Given the description of an element on the screen output the (x, y) to click on. 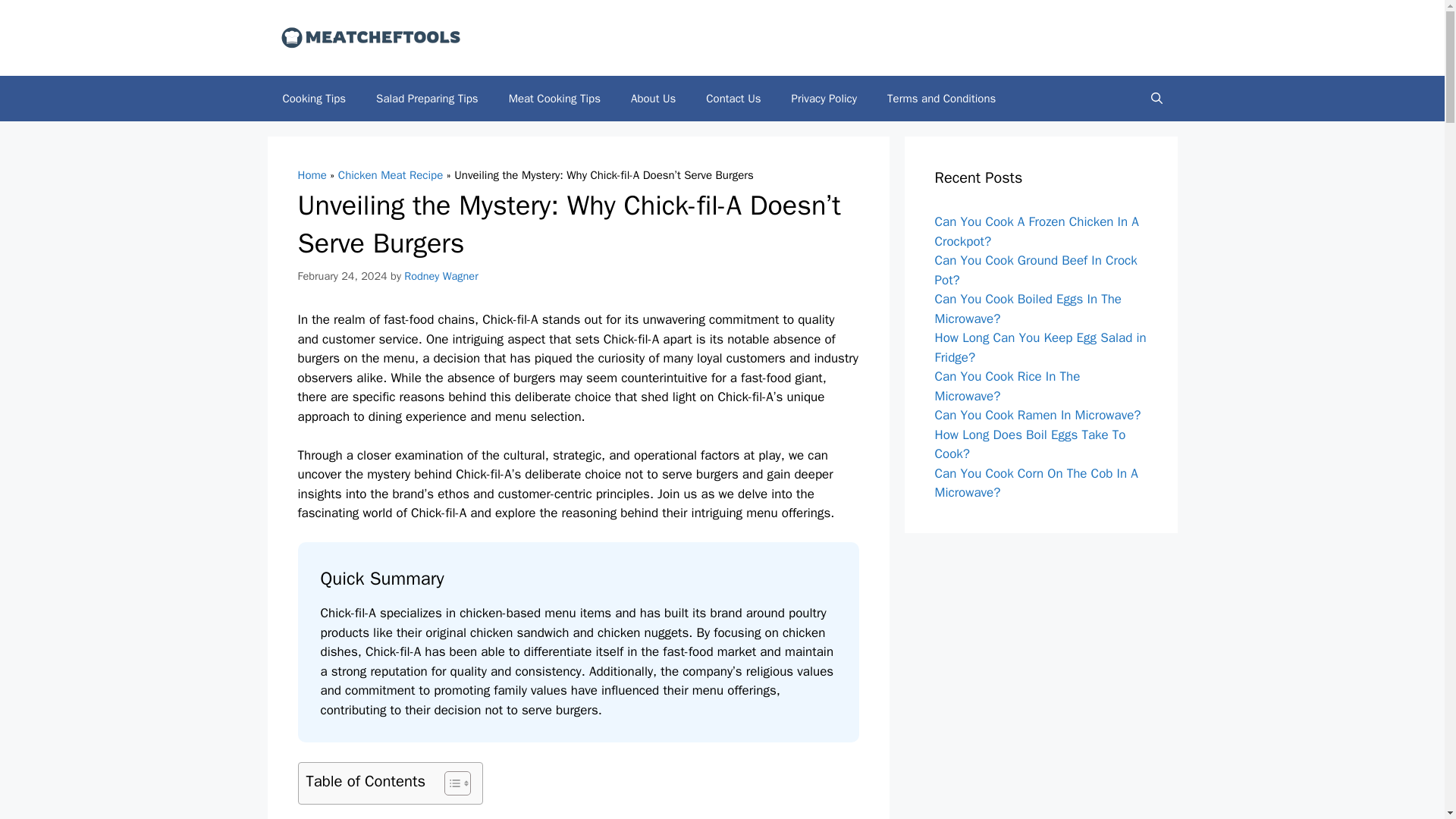
Can You Cook A Frozen Chicken In A Crockpot? (1036, 231)
Can You Cook Ground Beef In Crock Pot? (1035, 270)
Cooking Tips (313, 98)
Contact Us (733, 98)
Can You Cook Boiled Eggs In The Microwave? (1027, 308)
How Long Can You Keep Egg Salad in Fridge? (1039, 347)
About Us (652, 98)
Can You Cook Ramen In Microwave? (1037, 415)
Meat Cooking Tips (554, 98)
View all posts by Rodney Wagner (440, 274)
How Long Does Boil Eggs Take To Cook? (1029, 443)
Terms and Conditions (941, 98)
Chicken Meat Recipe (389, 174)
Home (311, 174)
Privacy Policy (824, 98)
